Given the description of an element on the screen output the (x, y) to click on. 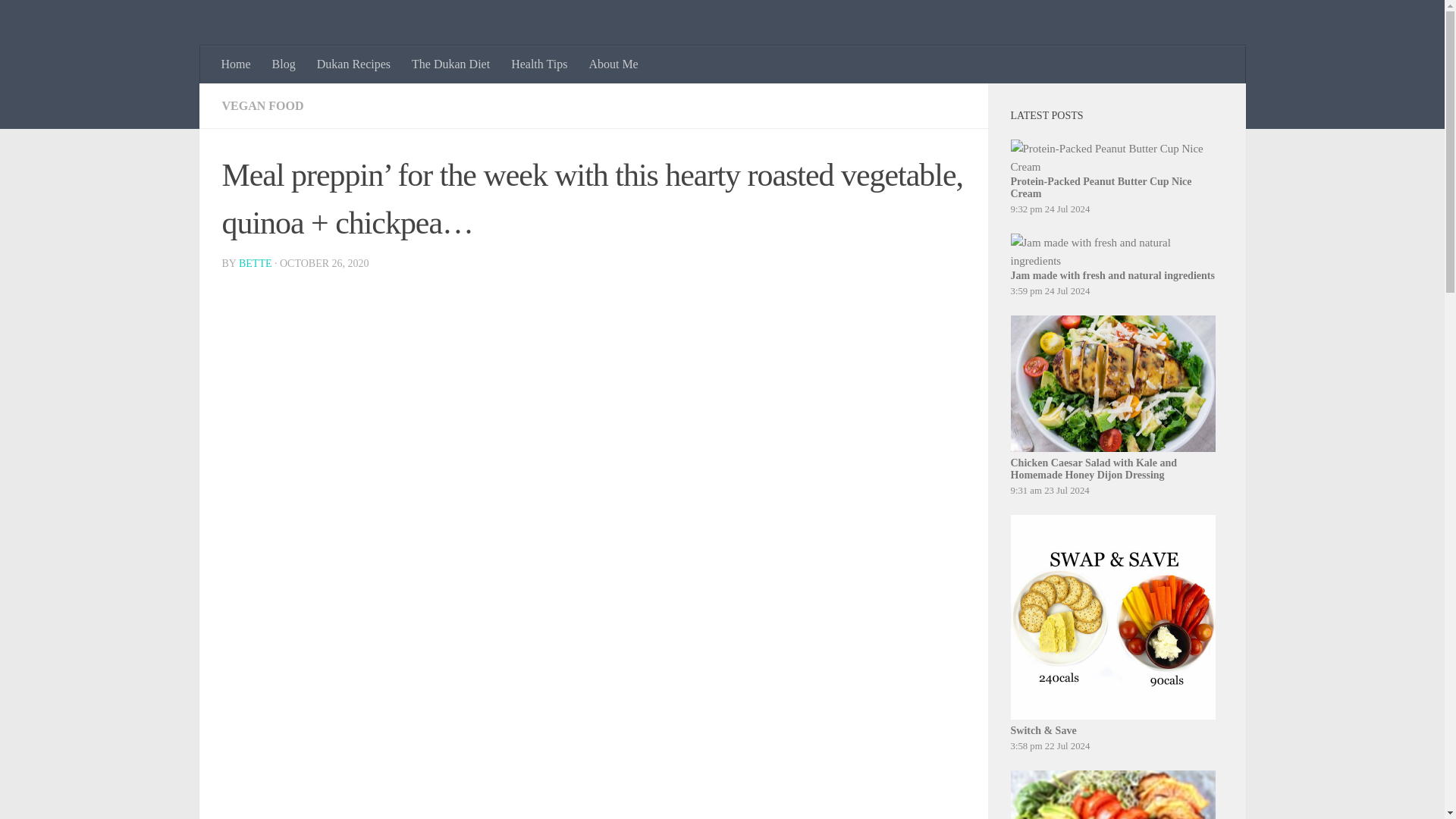
Protein-Packed Peanut Butter Cup Nice Cream (1112, 157)
Dukan Recipes (353, 64)
Jam made with fresh and natural ingredients (1112, 251)
About Me (612, 64)
Skip to content (59, 20)
Health Tips (539, 64)
The Dukan Diet (450, 64)
BETTE (255, 263)
Posts by Bette (255, 263)
VEGAN FOOD (261, 105)
